Given the description of an element on the screen output the (x, y) to click on. 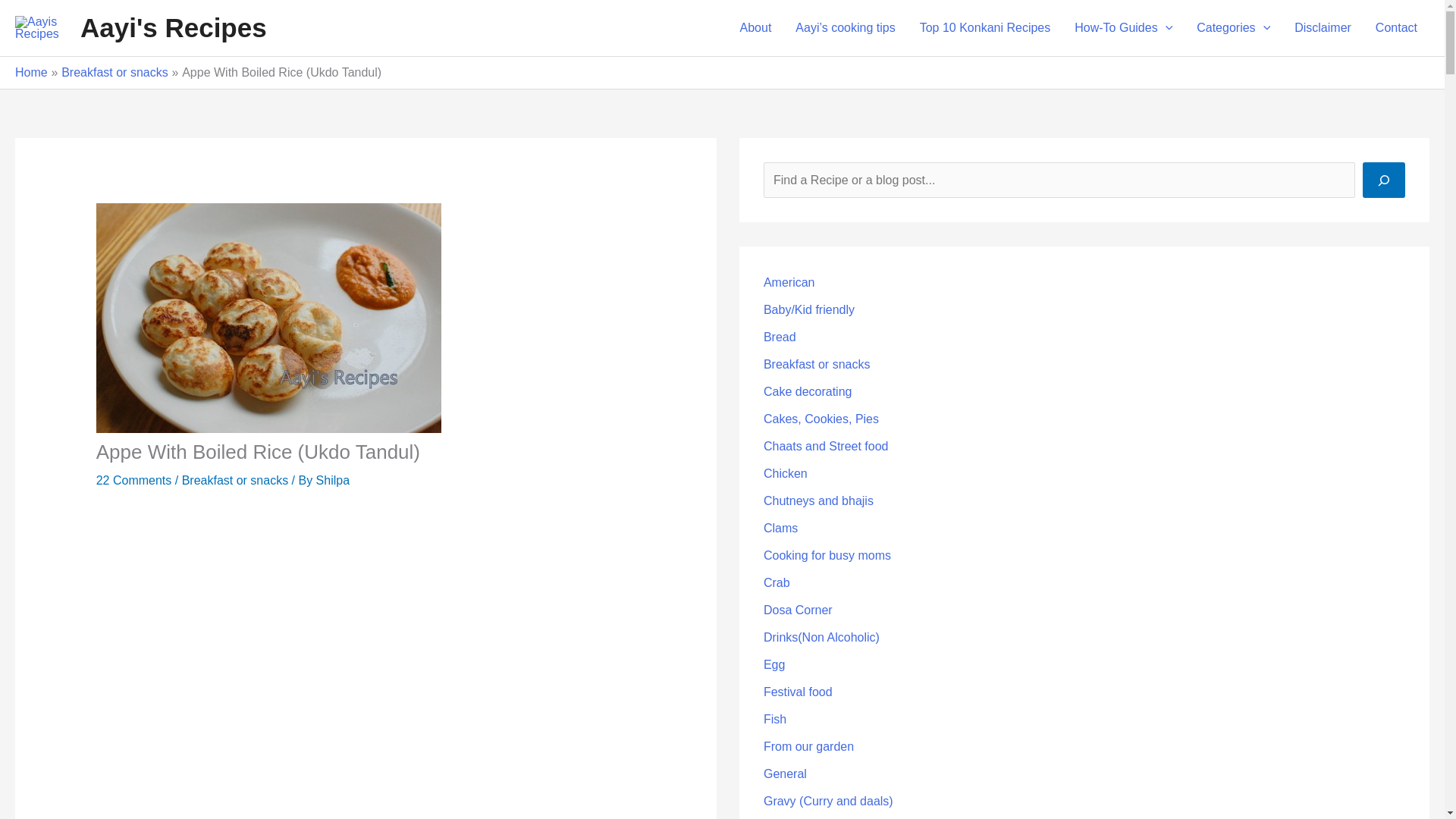
View all posts by Shilpa (332, 480)
Top 10 Konkani Recipes (984, 27)
How-To Guides (1123, 27)
Aayi's Recipes (173, 27)
About (756, 27)
Categories (1233, 27)
Top 10 Konkani Recipes (984, 27)
appe with boiled rice (365, 666)
Categories (1233, 27)
